Given the description of an element on the screen output the (x, y) to click on. 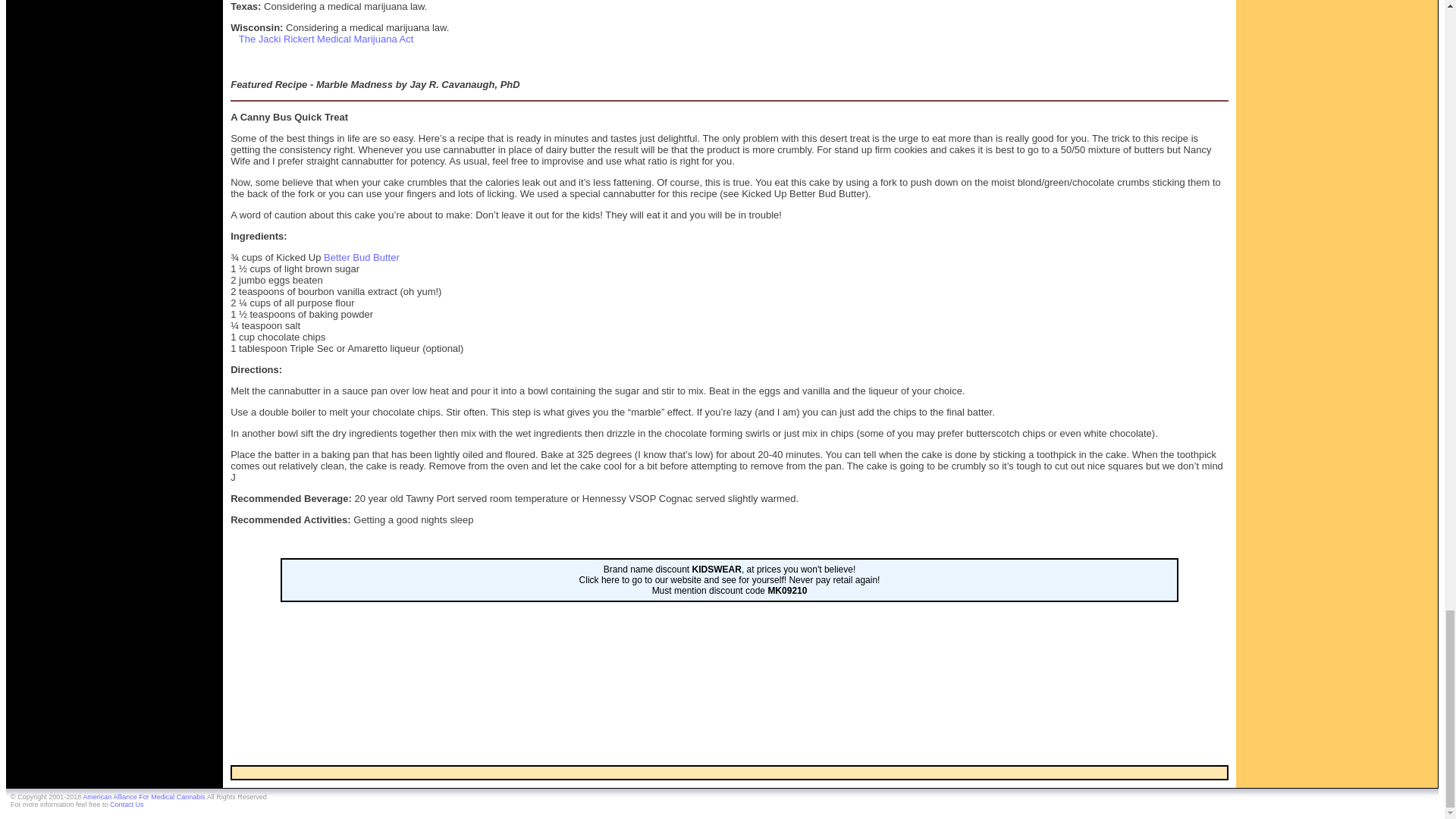
The Jacki Rickert Medical Marijuana Act (325, 39)
Click here to go to MagicKids Online Store (729, 580)
Better Bud Butter (360, 256)
